Given the description of an element on the screen output the (x, y) to click on. 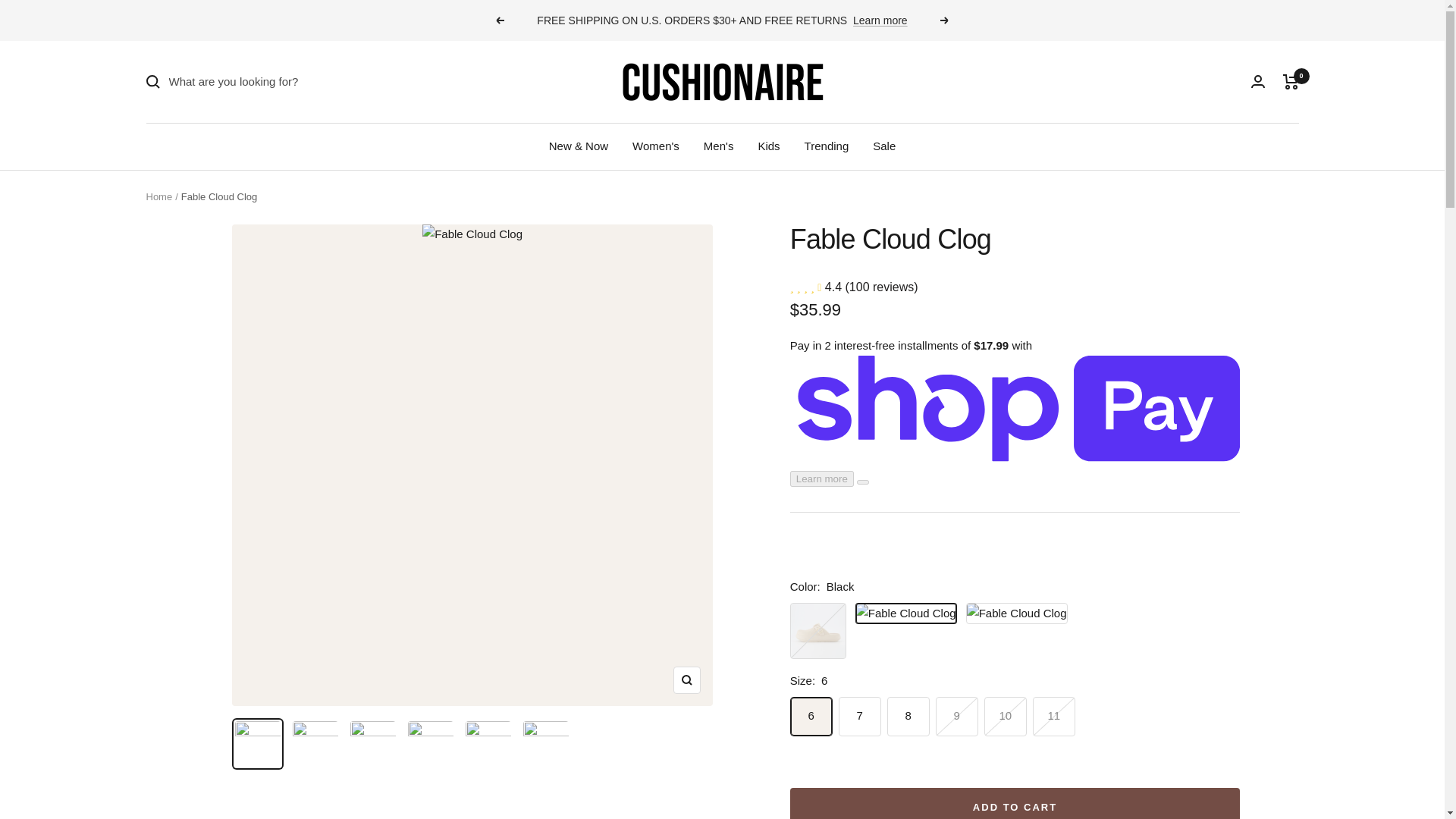
Kids (767, 146)
Next (944, 20)
Cushionaire (722, 81)
Trending (826, 146)
Sale (883, 146)
0 (1290, 81)
Women's (655, 146)
Home (158, 196)
